Given the description of an element on the screen output the (x, y) to click on. 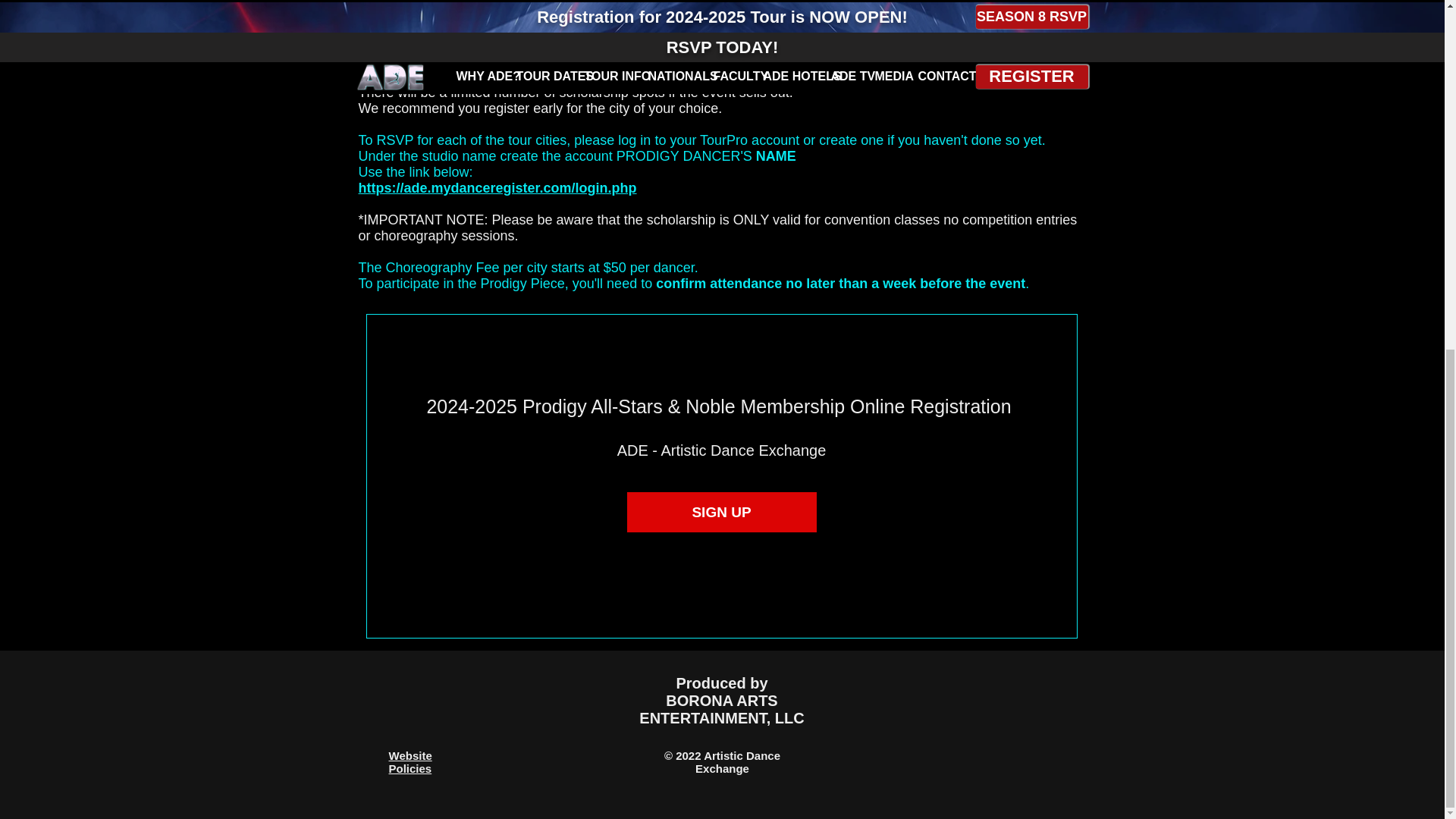
Website Policies (409, 761)
SIGN UP (720, 512)
